Given the description of an element on the screen output the (x, y) to click on. 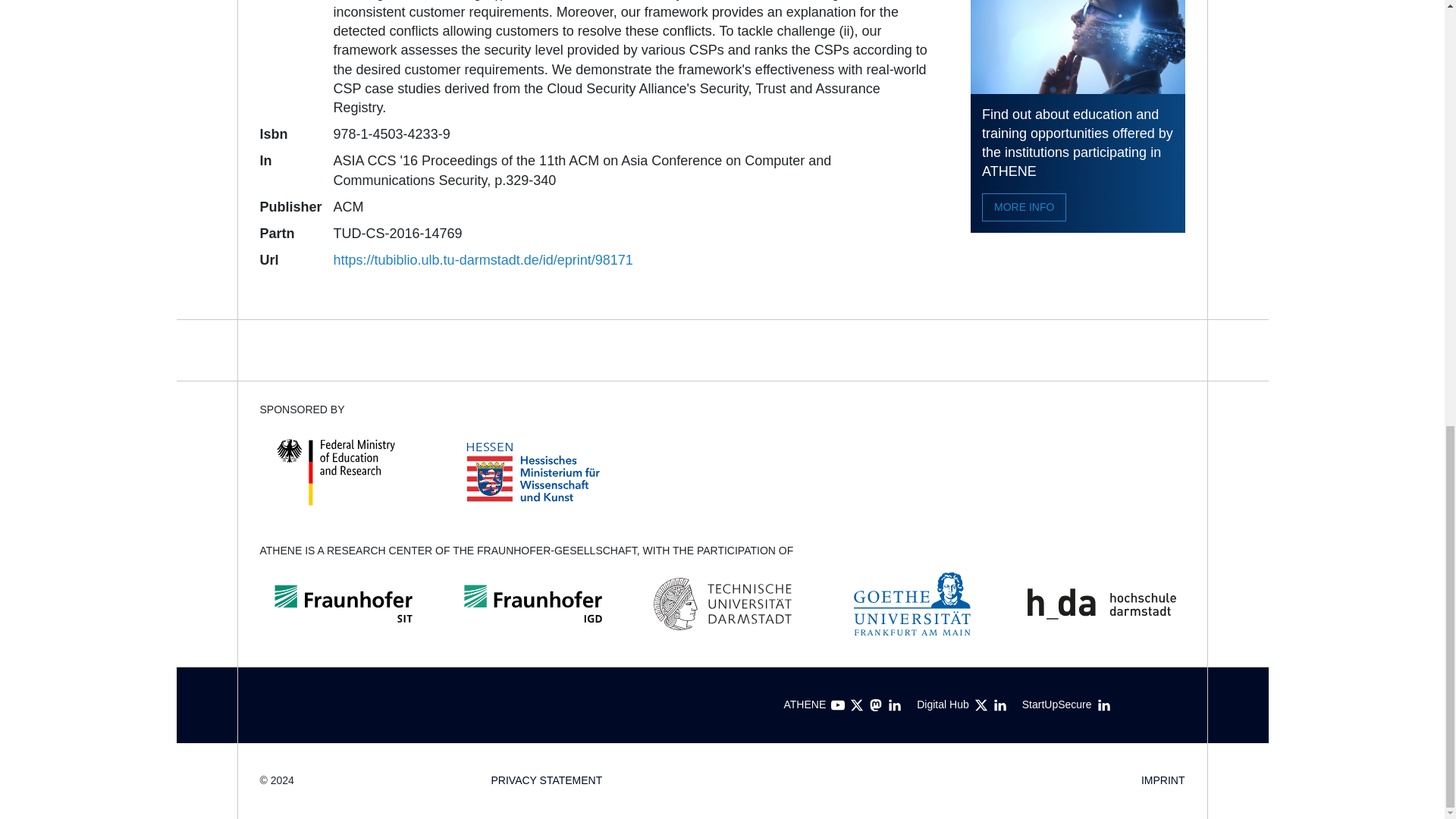
Mastodon (875, 704)
LinkedIn (999, 704)
Twitter (981, 704)
LinkedIn (1103, 704)
Twitter (856, 704)
LinkedIn (894, 704)
YouTube (837, 704)
